Given the description of an element on the screen output the (x, y) to click on. 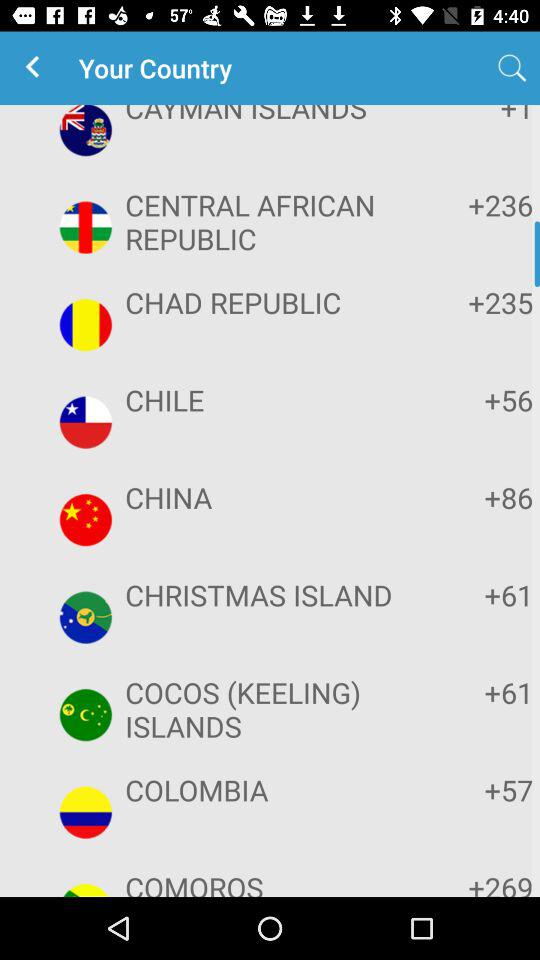
click the item to the left of +236 icon (267, 221)
